Given the description of an element on the screen output the (x, y) to click on. 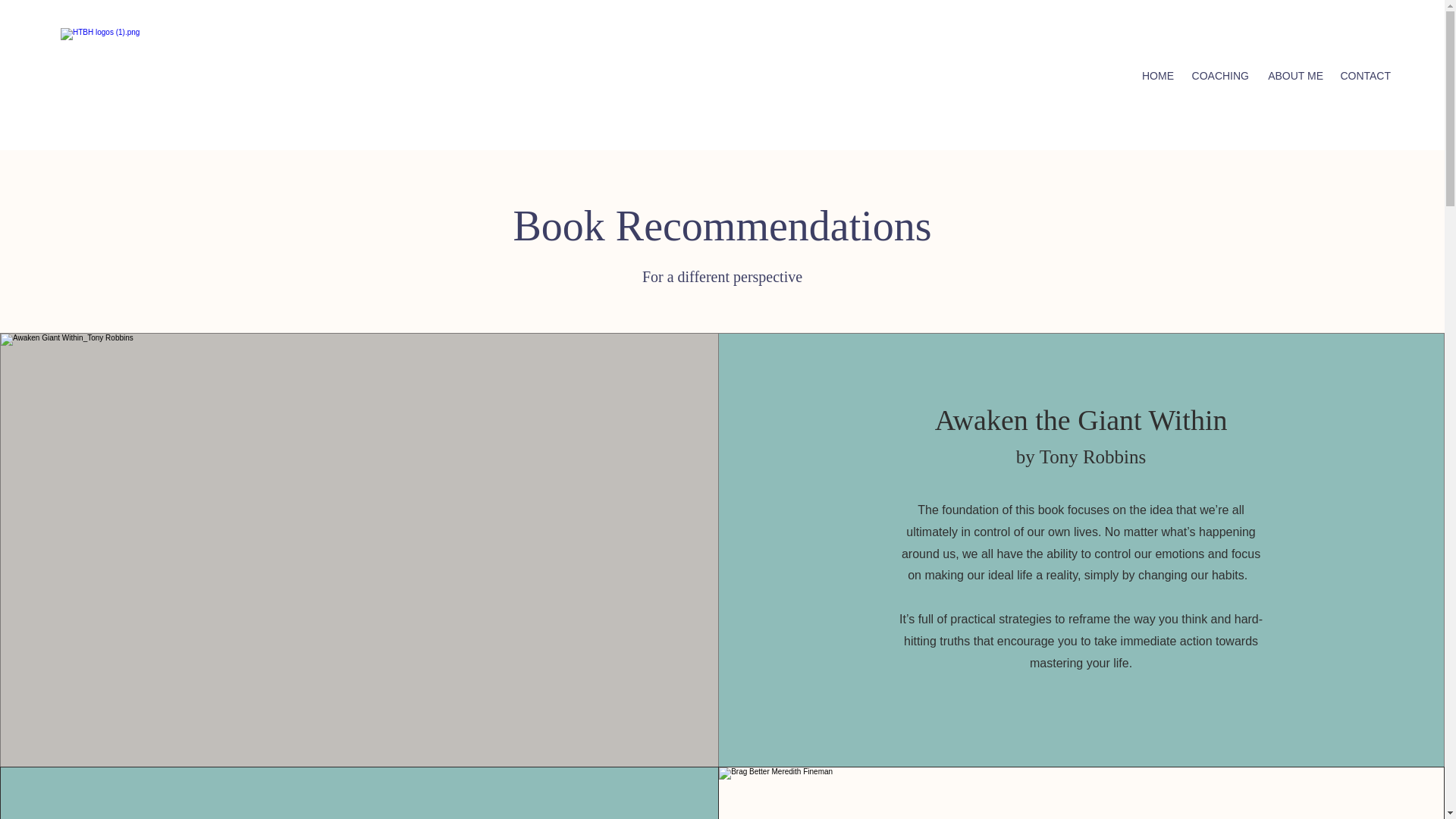
CONTACT (1363, 75)
ABOUT ME (1293, 75)
HOME (1156, 75)
COACHING (1218, 75)
